Given the description of an element on the screen output the (x, y) to click on. 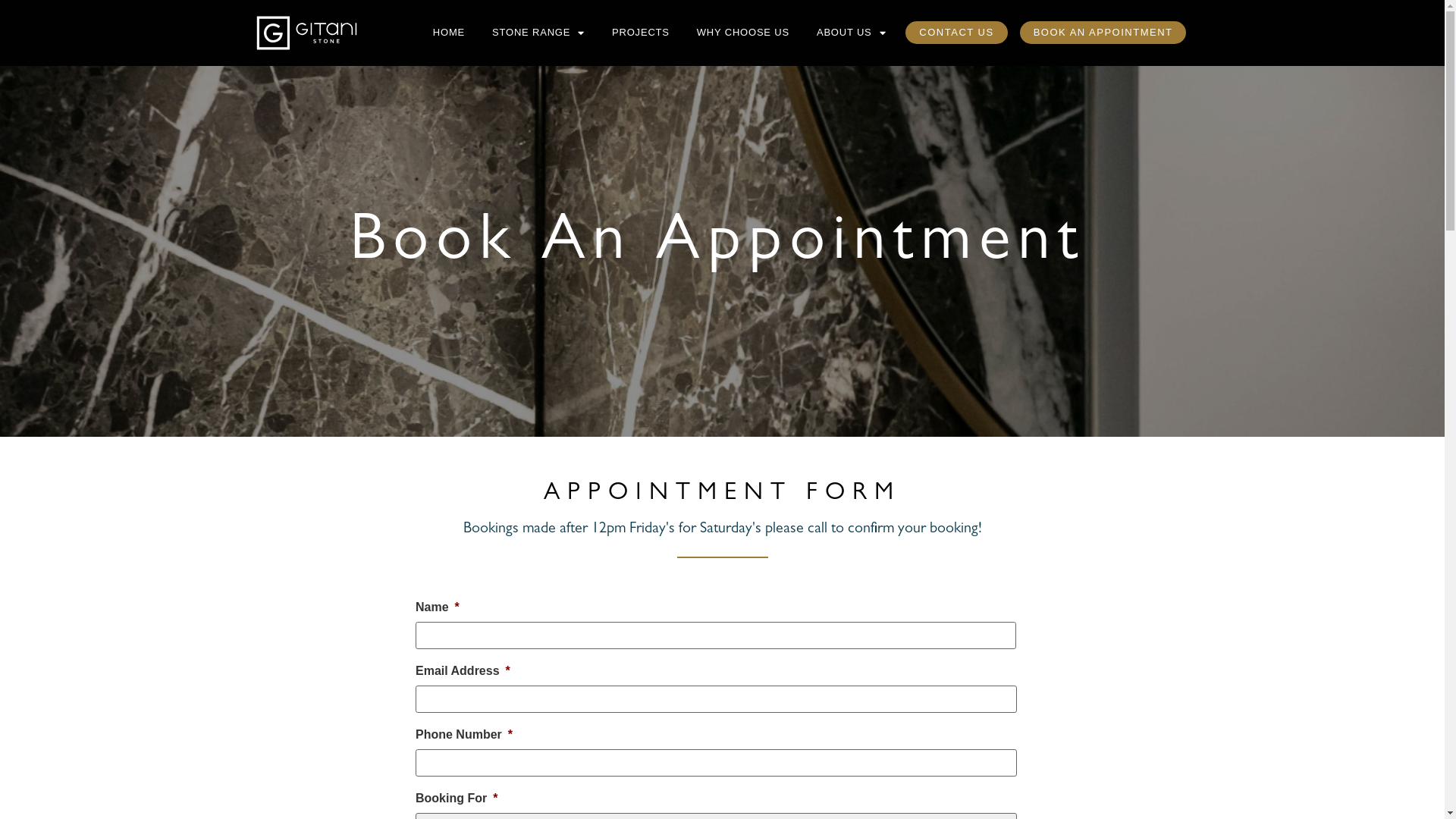
ABOUT US Element type: text (851, 32)
STONE RANGE Element type: text (538, 32)
BOOK AN APPOINTMENT Element type: text (1102, 32)
CONTACT US Element type: text (956, 32)
PROJECTS Element type: text (640, 32)
HOME Element type: text (448, 32)
WHY CHOOSE US Element type: text (743, 32)
